Given the description of an element on the screen output the (x, y) to click on. 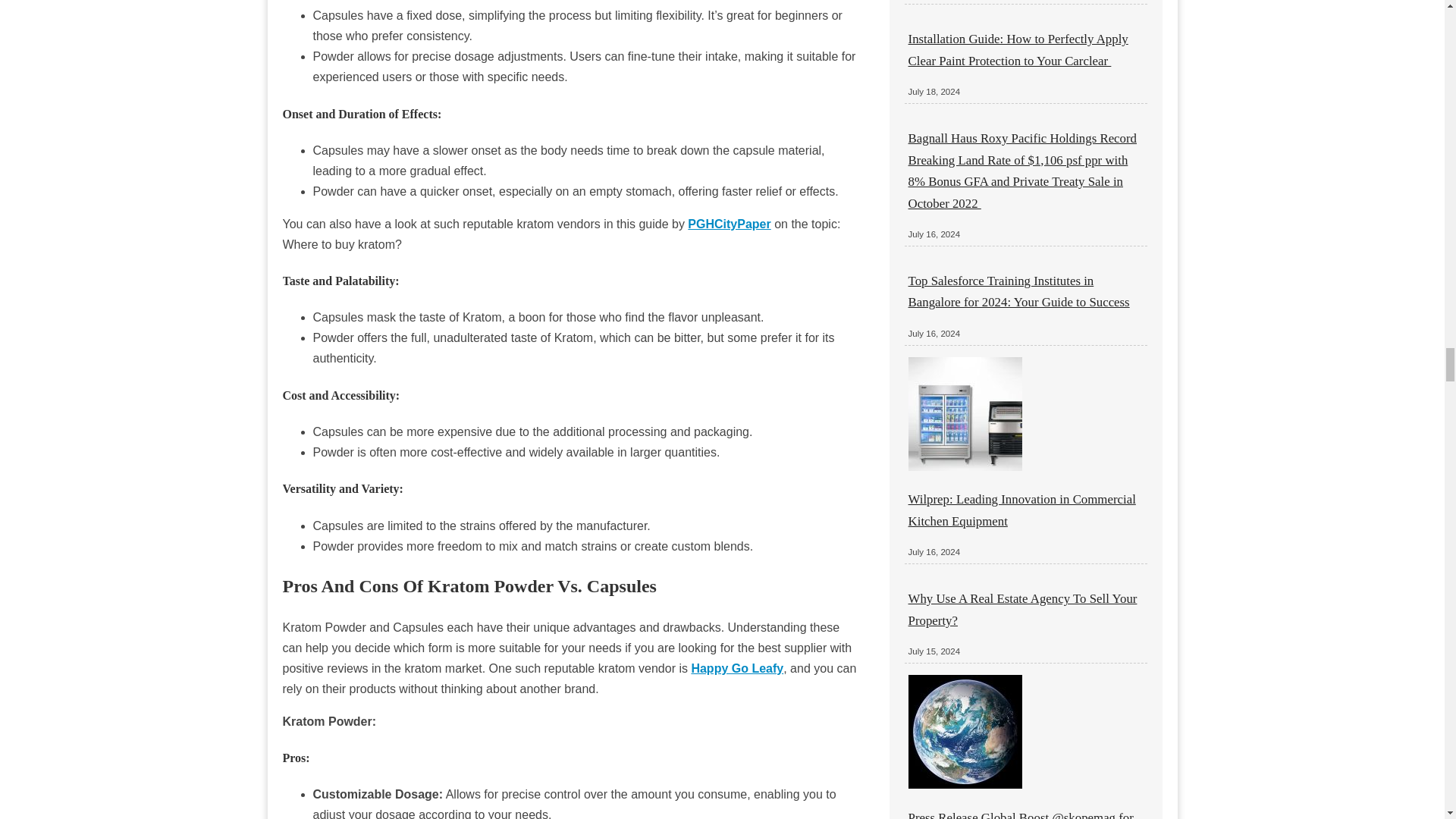
Happy Go Leafy (736, 667)
PGHCityPaper (728, 223)
Why Use A Real Estate Agency To Sell Your Property? (1022, 609)
Wilprep: Leading Innovation in Commercial Kitchen Equipment (1021, 509)
